Given the description of an element on the screen output the (x, y) to click on. 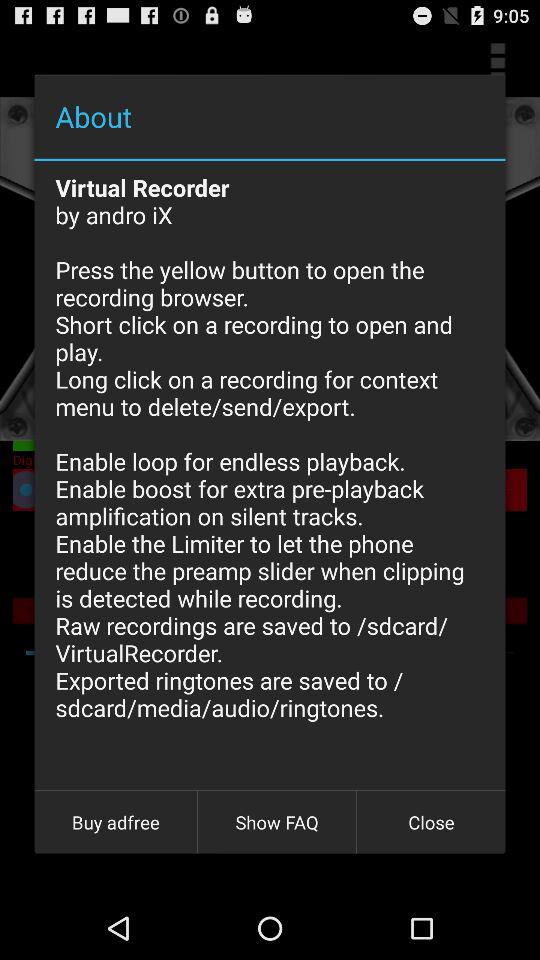
flip until buy adfree item (115, 821)
